Given the description of an element on the screen output the (x, y) to click on. 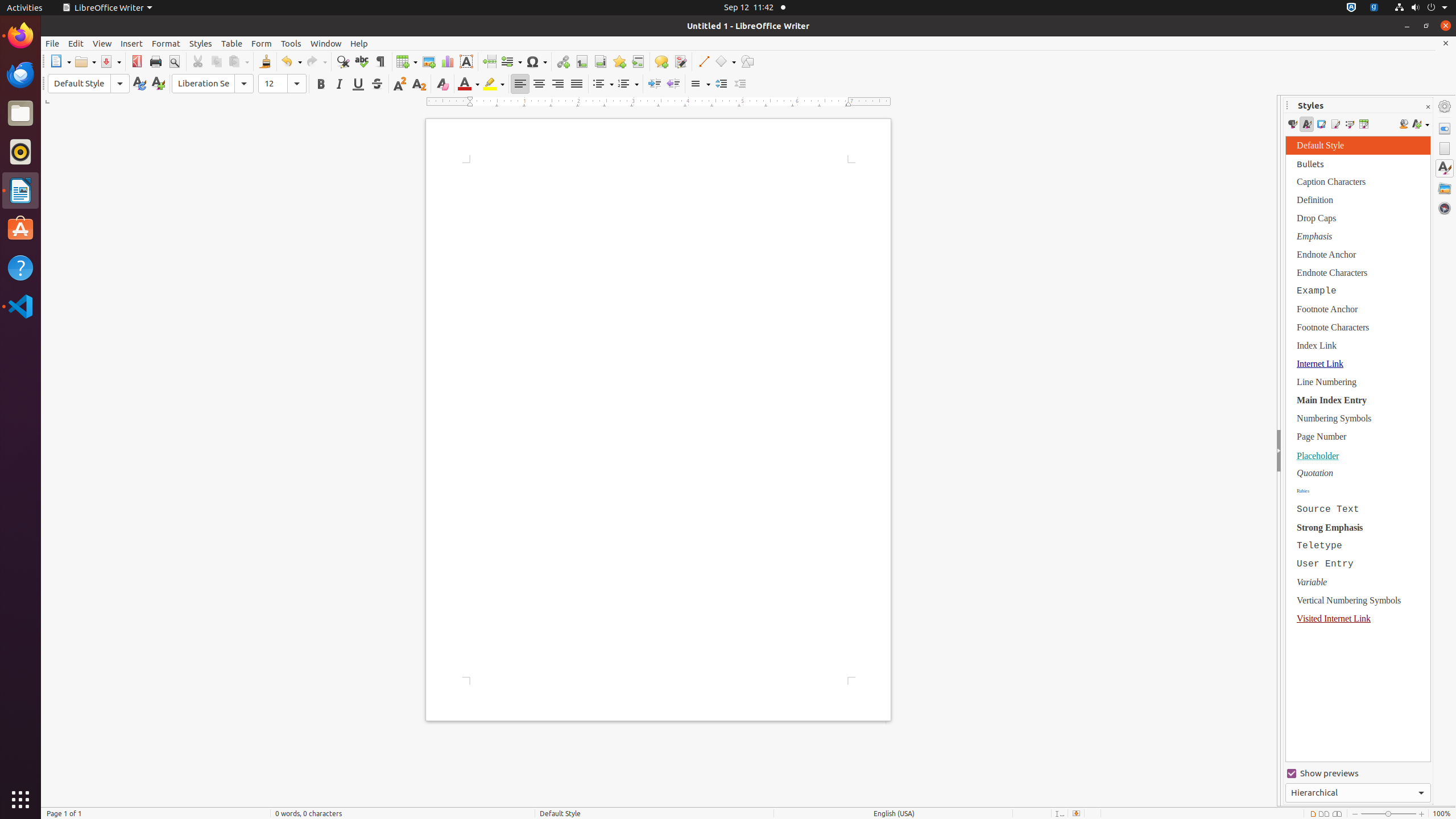
Symbol Element type: push-button (535, 61)
Visual Studio Code Element type: push-button (20, 306)
Navigator Element type: radio-button (1444, 208)
Fill Format Mode Element type: push-button (1403, 123)
Center Element type: toggle-button (538, 83)
